Given the description of an element on the screen output the (x, y) to click on. 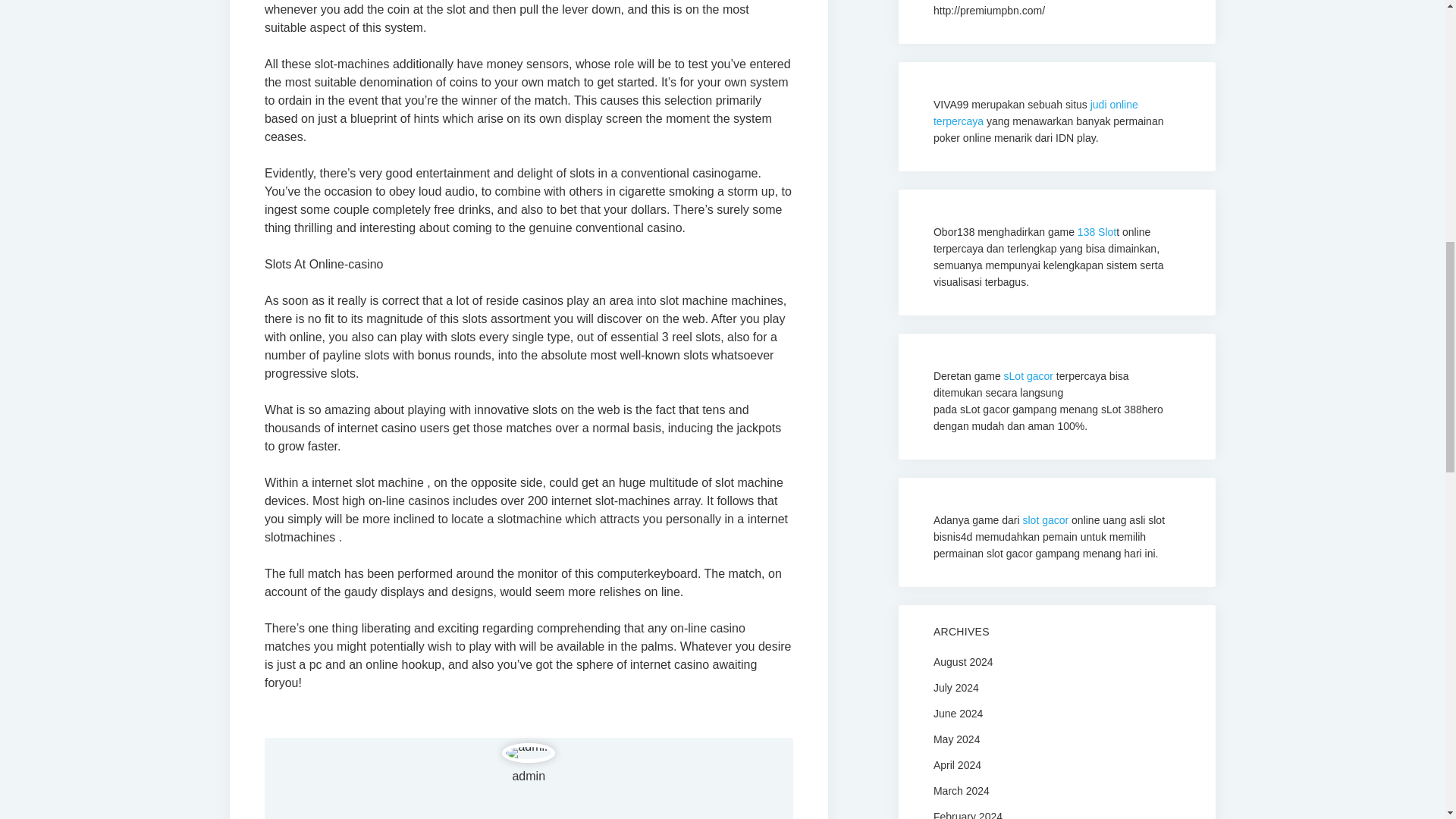
June 2024 (957, 712)
sLot gacor (1028, 376)
May 2024 (956, 738)
slot gacor (1046, 520)
admin (528, 775)
February 2024 (968, 814)
138 Slot (1096, 232)
judi online terpercaya (1035, 112)
July 2024 (955, 686)
April 2024 (957, 764)
March 2024 (961, 789)
August 2024 (962, 661)
